Given the description of an element on the screen output the (x, y) to click on. 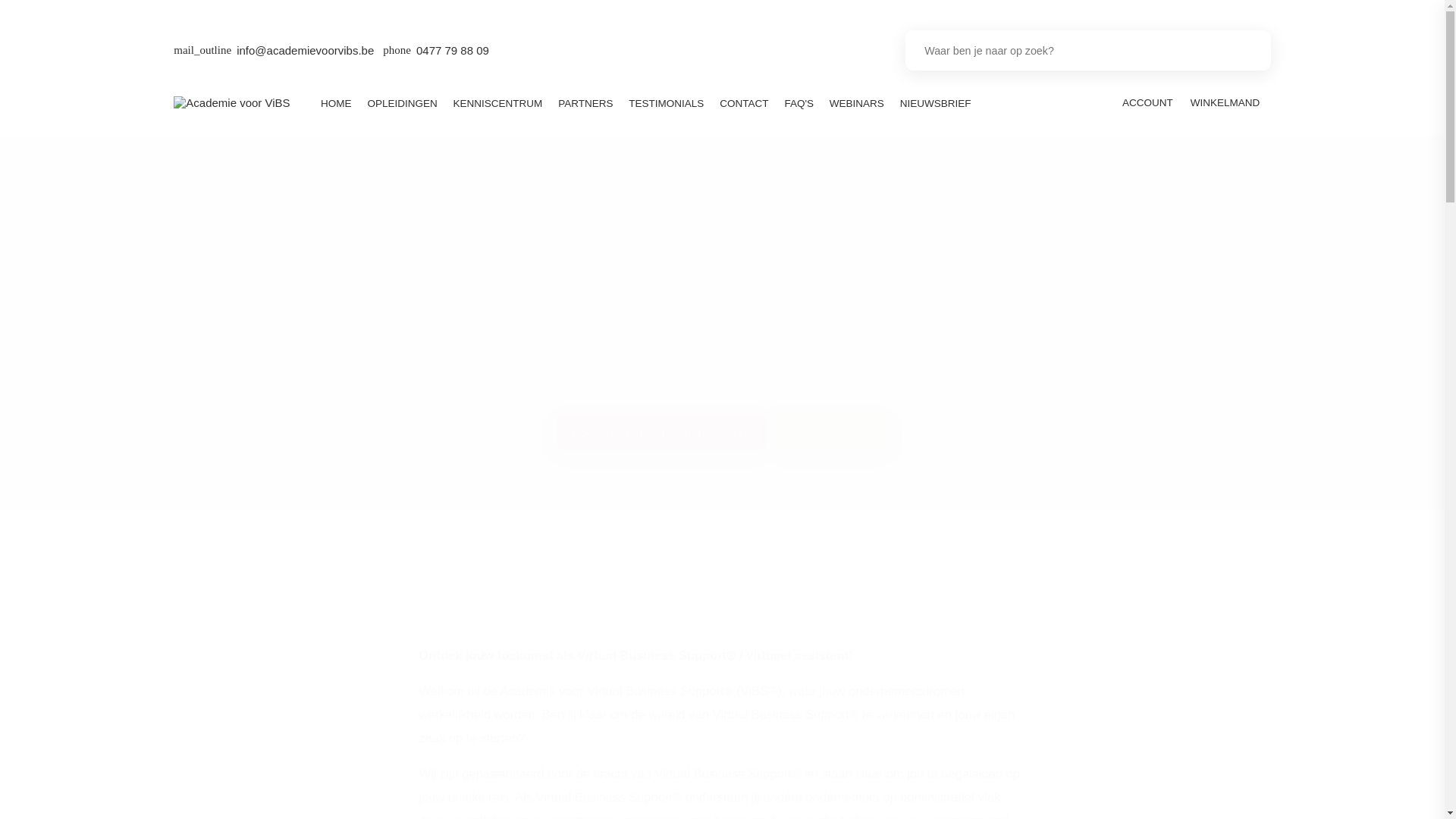
Boek een kennismakingsgesprek Element type: text (661, 432)
FAQ'S Element type: text (798, 103)
NIEUWSBRIEF Element type: text (935, 103)
Contacteer ons Element type: text (830, 432)
HOME Element type: text (335, 103)
CONTACT Element type: text (743, 103)
ACCOUNT Element type: text (1146, 102)
TESTIMONIALS Element type: text (666, 103)
PARTNERS Element type: text (585, 103)
Academie voor ViBS Element type: hover (231, 102)
WINKELMAND Element type: text (1226, 102)
phone
0477 79 88 09 Element type: text (435, 50)
mail_outline
info@academievoorvibs.be Element type: text (273, 50)
WEBINARS Element type: text (856, 103)
